Given the description of an element on the screen output the (x, y) to click on. 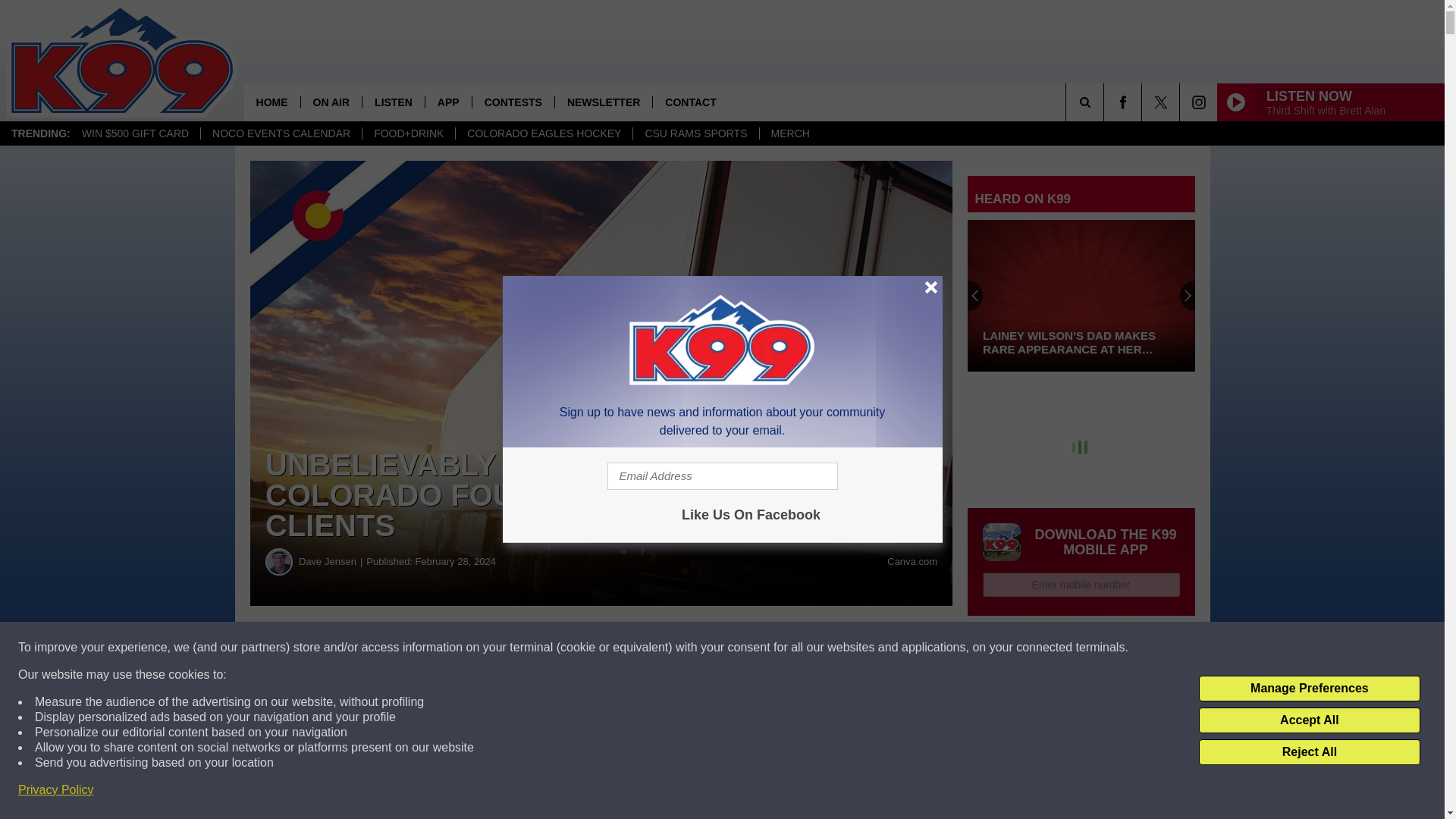
Share on Facebook (460, 647)
NEWSLETTER (603, 102)
Manage Preferences (1309, 688)
MERCH (789, 133)
COLORADO EAGLES HOCKEY (542, 133)
NOCO EVENTS CALENDAR (280, 133)
Accept All (1309, 720)
SEARCH (1106, 102)
CSU RAMS SPORTS (694, 133)
SEARCH (1106, 102)
Email Address (722, 475)
ON AIR (330, 102)
Reject All (1309, 751)
HOME (271, 102)
CONTESTS (512, 102)
